Given the description of an element on the screen output the (x, y) to click on. 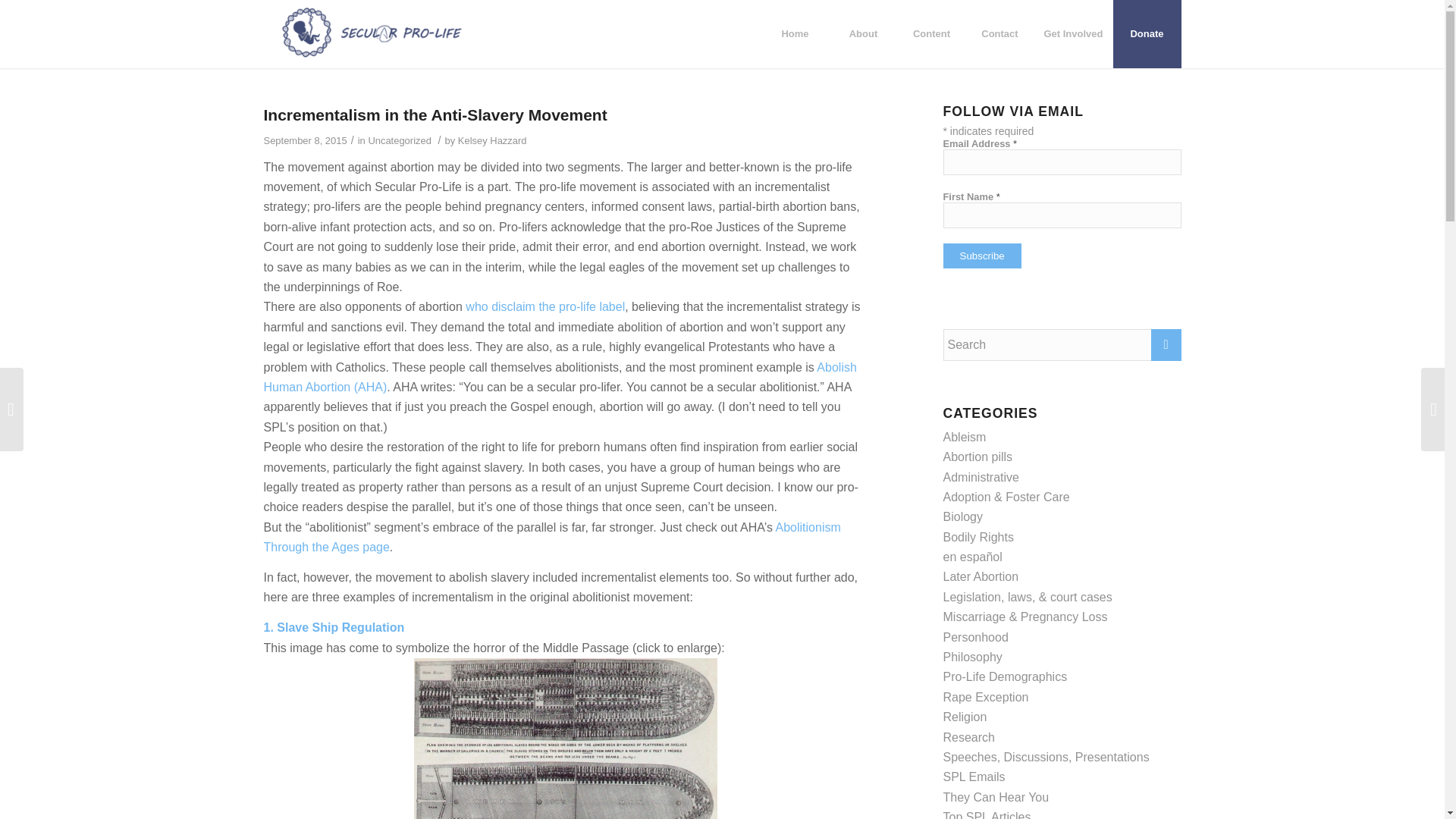
Home (794, 33)
Content (930, 33)
Posts by Kelsey Hazzard (492, 140)
SecularProlife2 (371, 33)
Contact (999, 33)
Subscribe (982, 255)
About (862, 33)
